Given the description of an element on the screen output the (x, y) to click on. 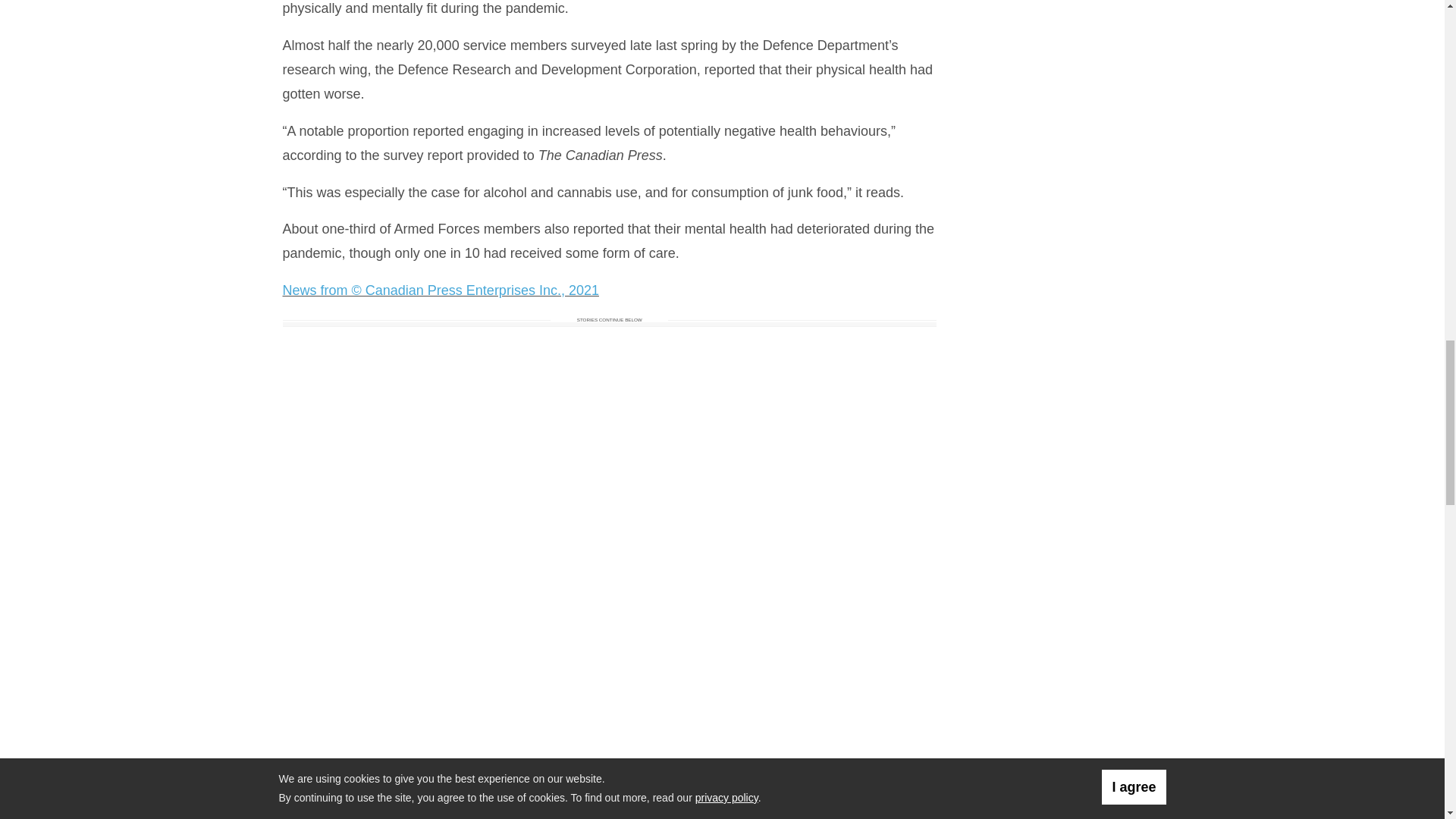
3rd party ad content (1060, 425)
3rd party ad content (1060, 228)
3rd party ad content (1060, 63)
